Given the description of an element on the screen output the (x, y) to click on. 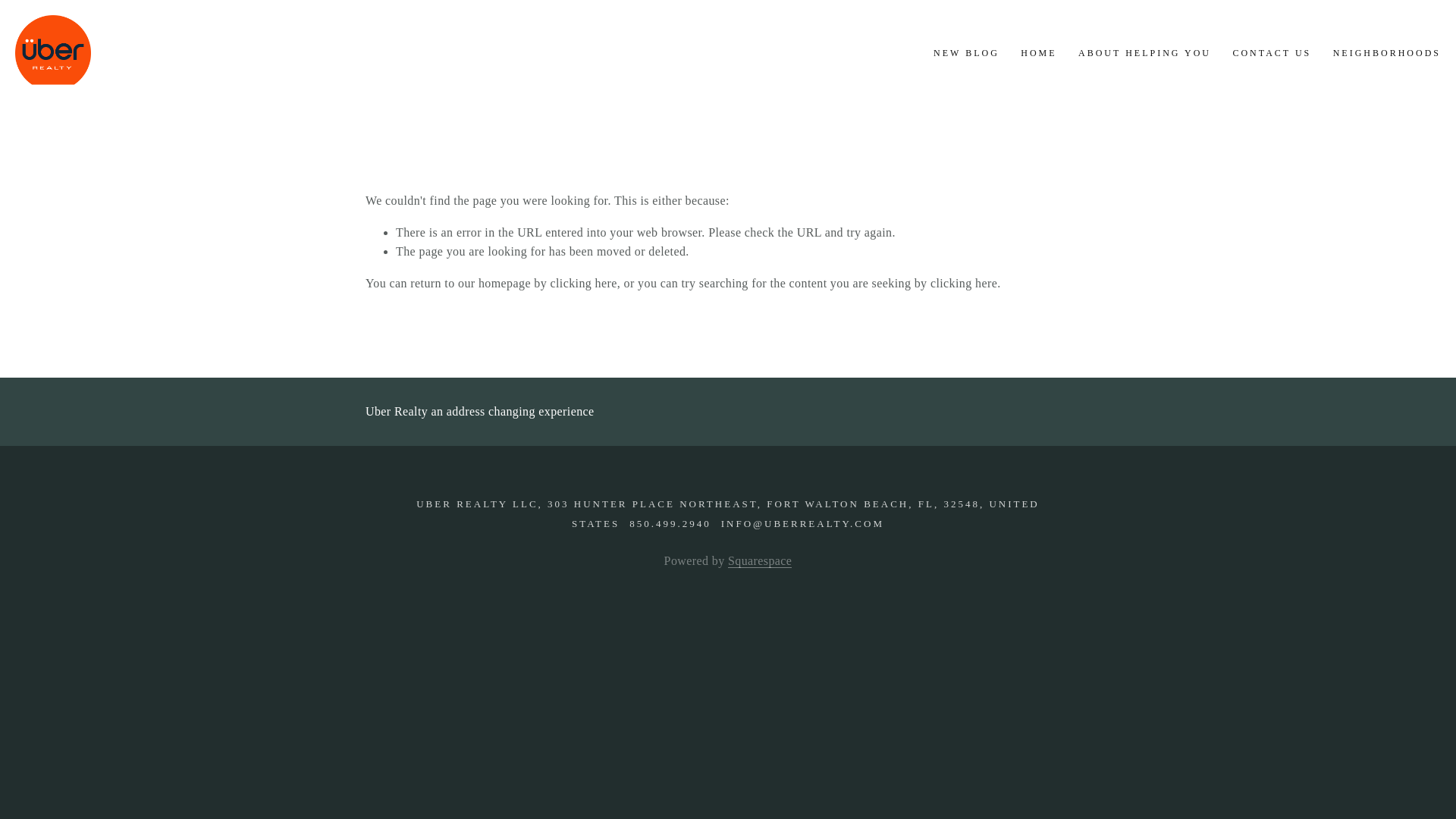
clicking here (963, 282)
Squarespace (760, 561)
clicking here (582, 282)
